Given the description of an element on the screen output the (x, y) to click on. 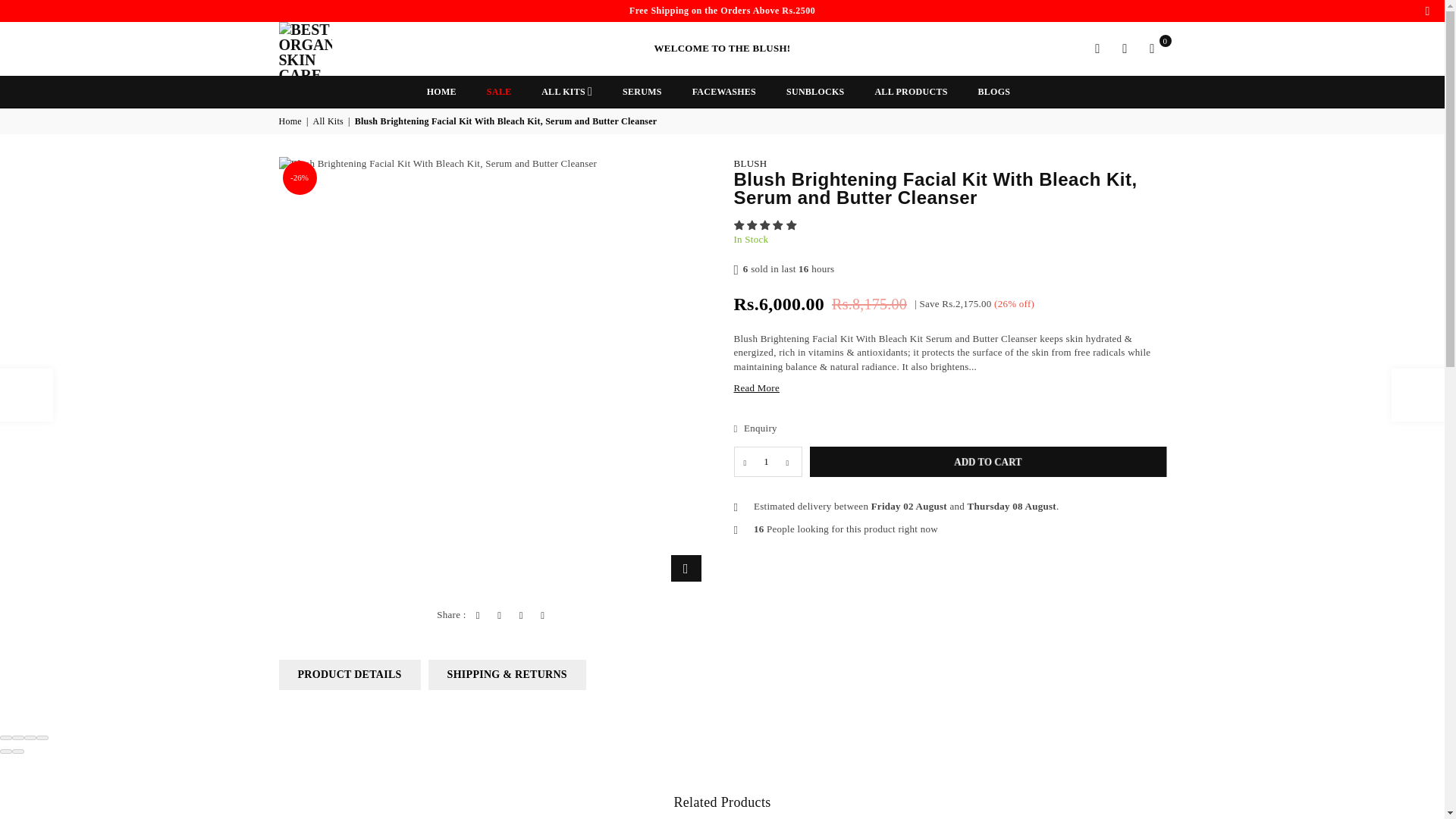
Quantity (767, 461)
SERUMS (641, 91)
HOME (440, 91)
0 (1152, 47)
ALL KITS (566, 91)
Previous Product (26, 394)
BLOGS (994, 91)
BLUSH (343, 49)
ALL PRODUCTS (910, 91)
SALE (499, 91)
SUNBLOCKS (815, 91)
Cart (1152, 47)
FACEWASHES (724, 91)
Toggle fullscreen (30, 737)
Back to the home page (291, 121)
